Given the description of an element on the screen output the (x, y) to click on. 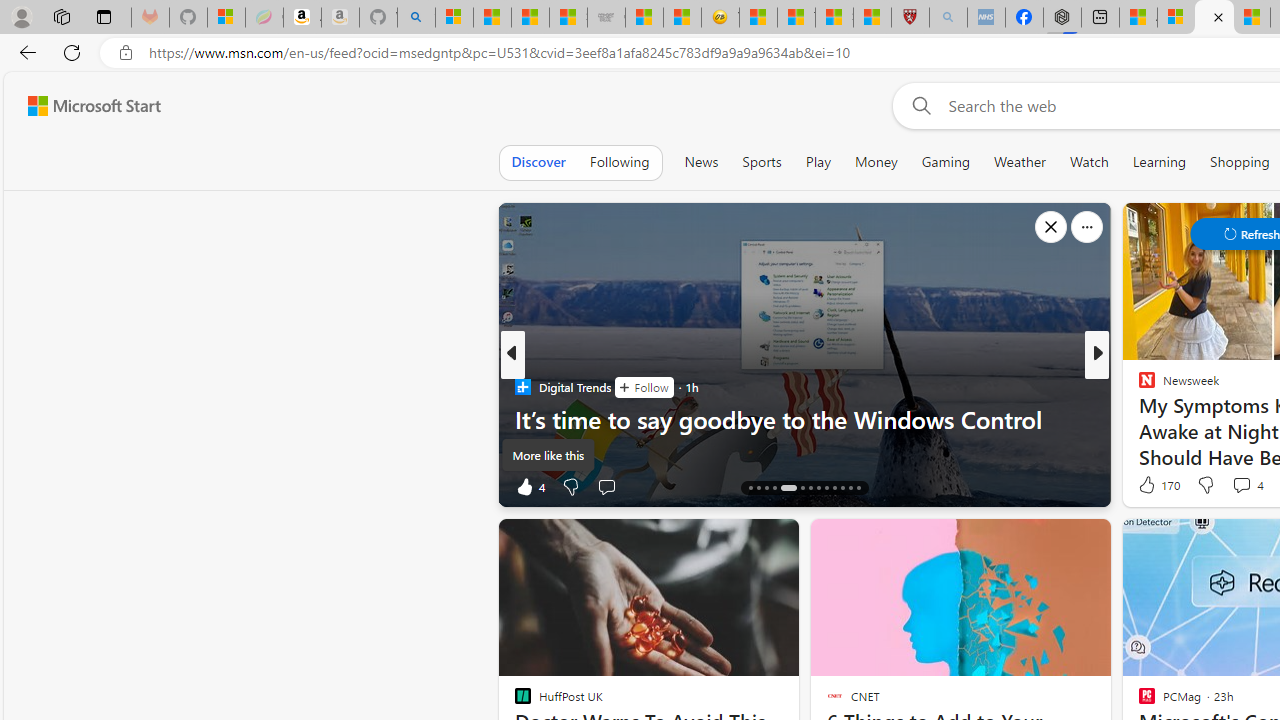
Stacker (1138, 386)
AutomationID: tab-15 (757, 487)
View comments 11 Comment (1234, 485)
View comments 5 Comment (1229, 485)
AutomationID: tab-26 (857, 487)
AutomationID: tab-19 (801, 487)
AutomationID: tab-18 (788, 487)
